Given the description of an element on the screen output the (x, y) to click on. 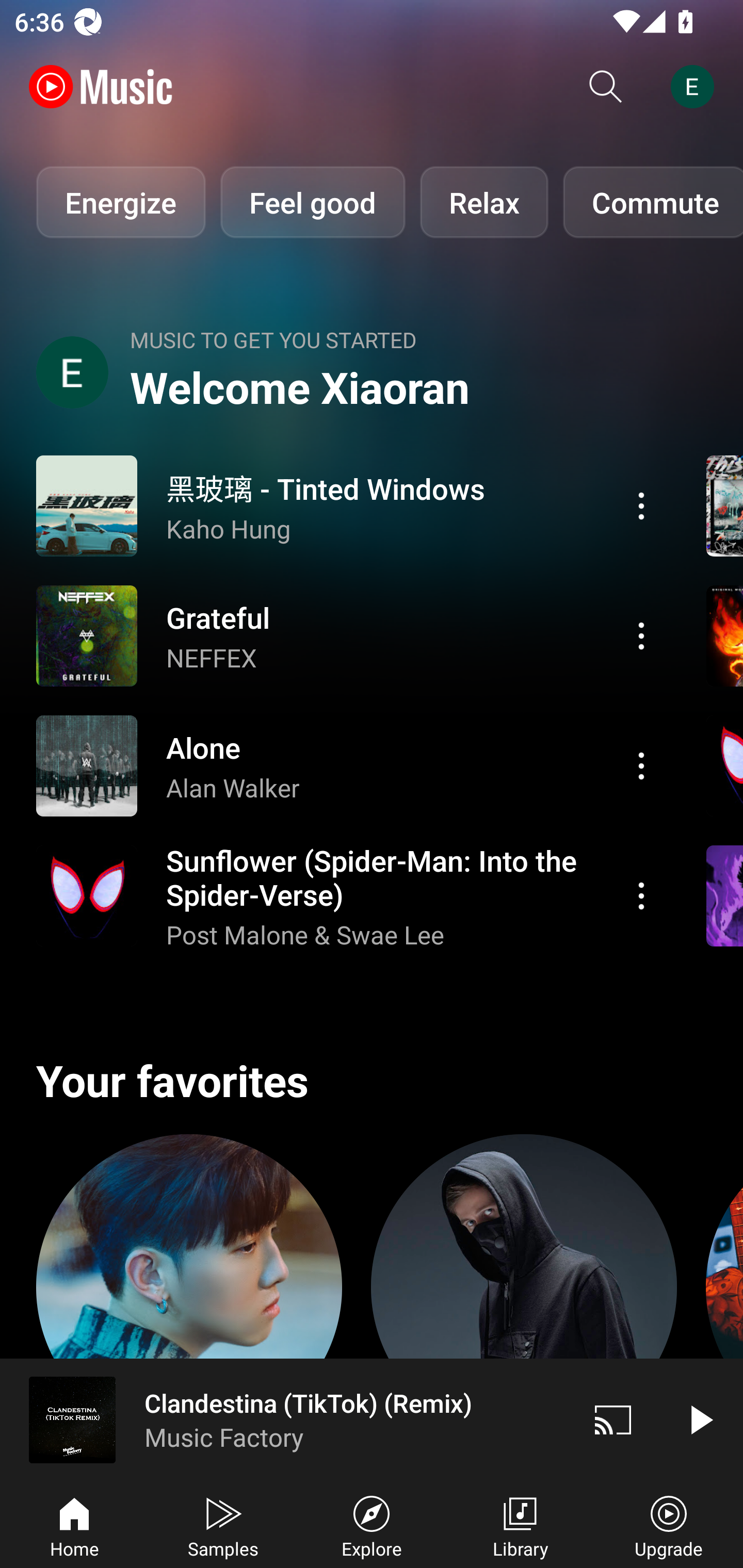
Search (605, 86)
Account (696, 86)
Action menu (349, 505)
Action menu (641, 505)
Action menu (349, 635)
Action menu (641, 635)
Action menu (349, 765)
Action menu (641, 765)
Action menu (349, 896)
Action menu (641, 896)
Clandestina (TikTok) (Remix) Music Factory (284, 1419)
Cast. Disconnected (612, 1419)
Play video (699, 1419)
Home (74, 1524)
Samples (222, 1524)
Explore (371, 1524)
Library (519, 1524)
Upgrade (668, 1524)
